Given the description of an element on the screen output the (x, y) to click on. 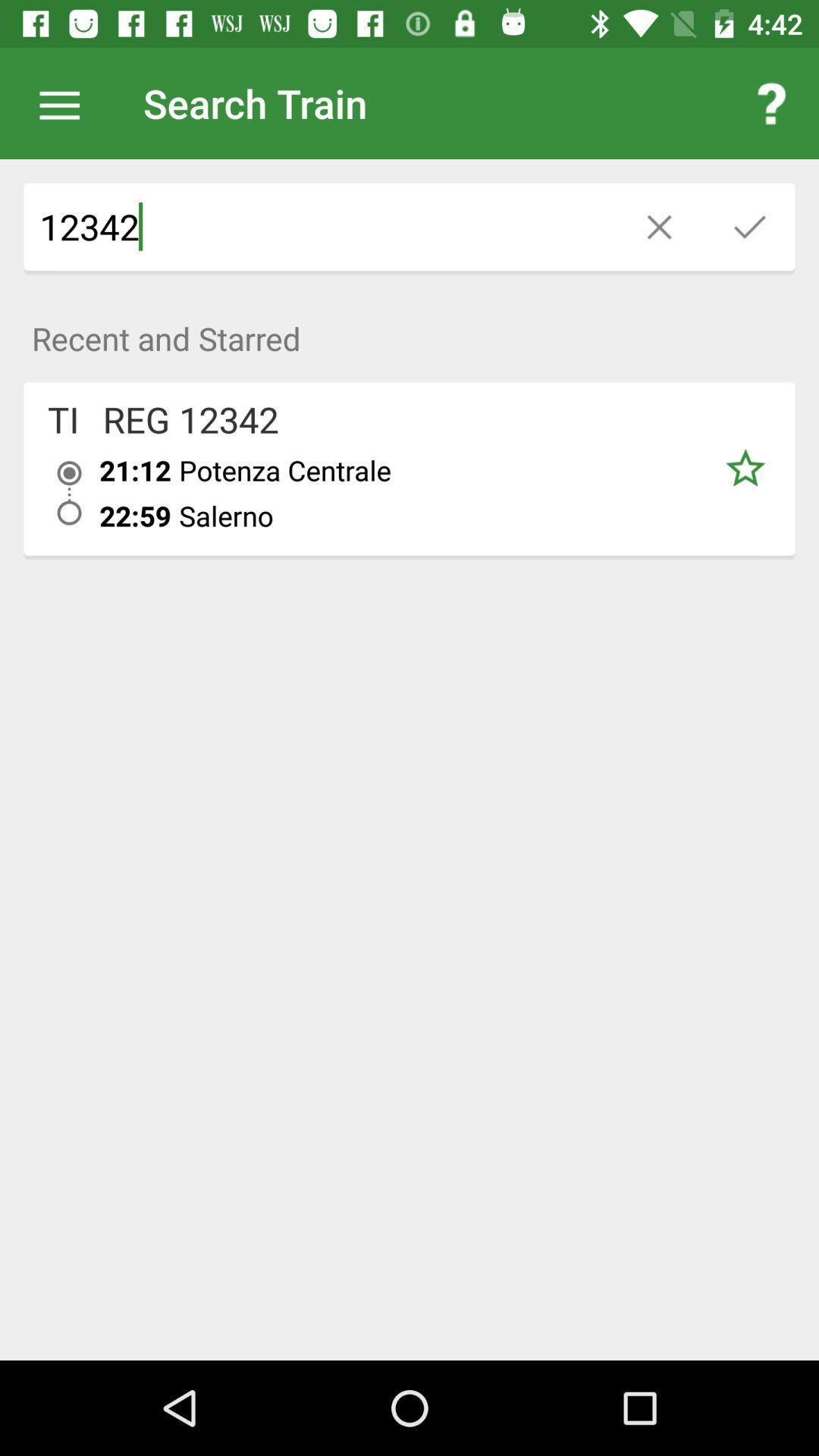
click app to the left of search train (67, 103)
